Given the description of an element on the screen output the (x, y) to click on. 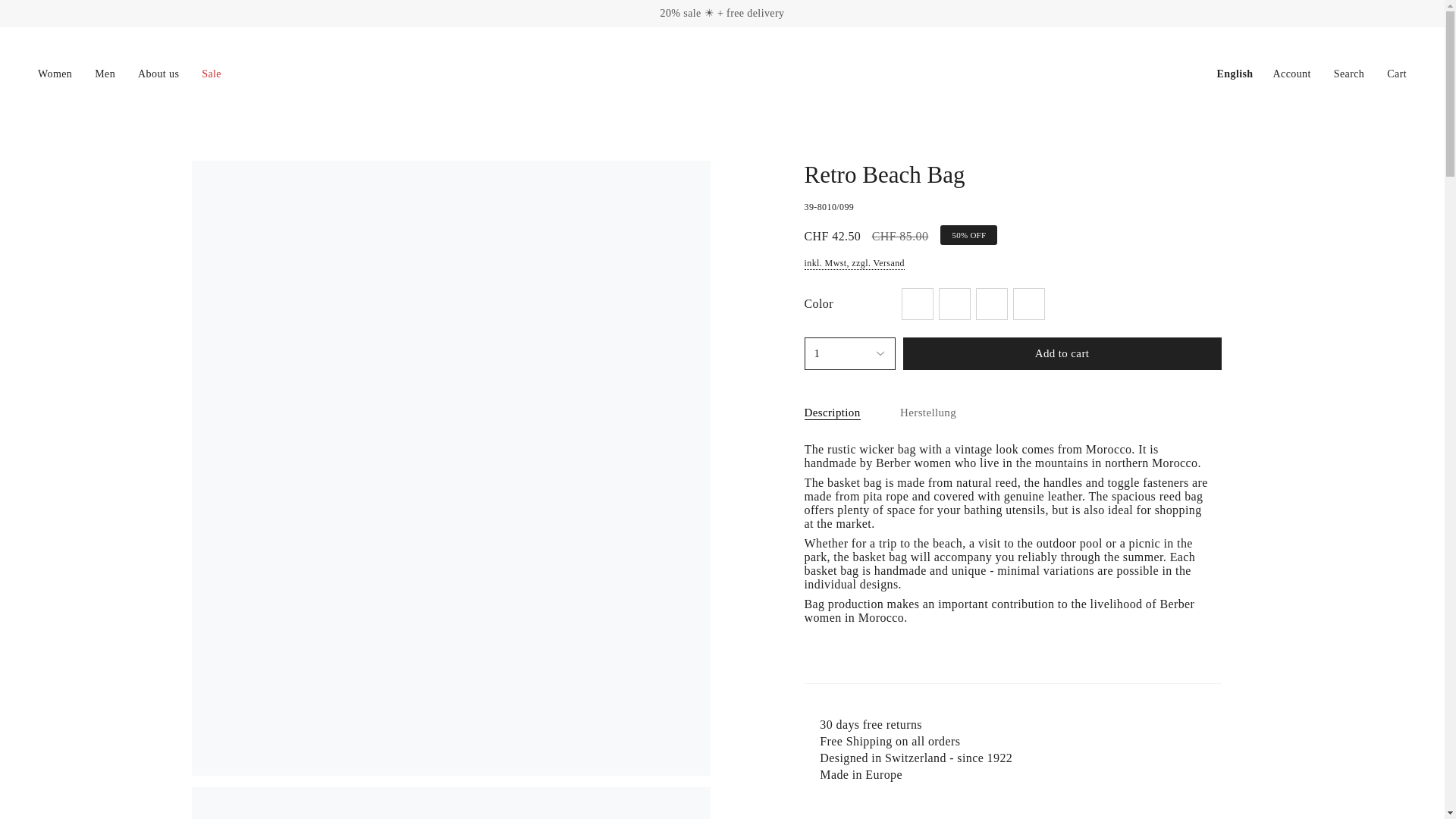
Cart (1396, 74)
Search (1348, 74)
My Account (1292, 74)
